Given the description of an element on the screen output the (x, y) to click on. 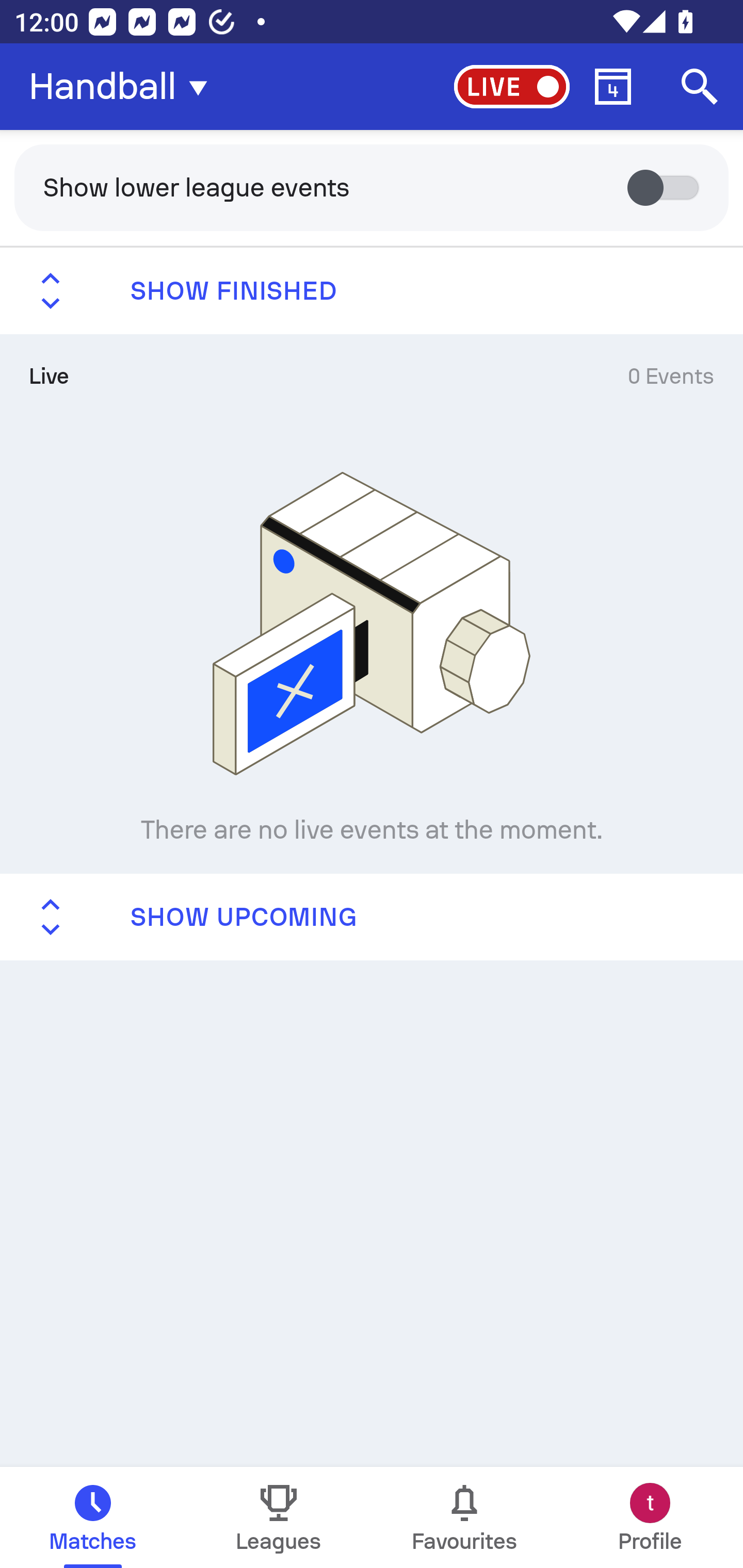
Handball (124, 86)
Calendar (612, 86)
Search (699, 86)
Show lower league events (371, 187)
SHOW FINISHED (371, 290)
SHOW UPCOMING (371, 916)
Leagues (278, 1517)
Favourites (464, 1517)
Profile (650, 1517)
